Given the description of an element on the screen output the (x, y) to click on. 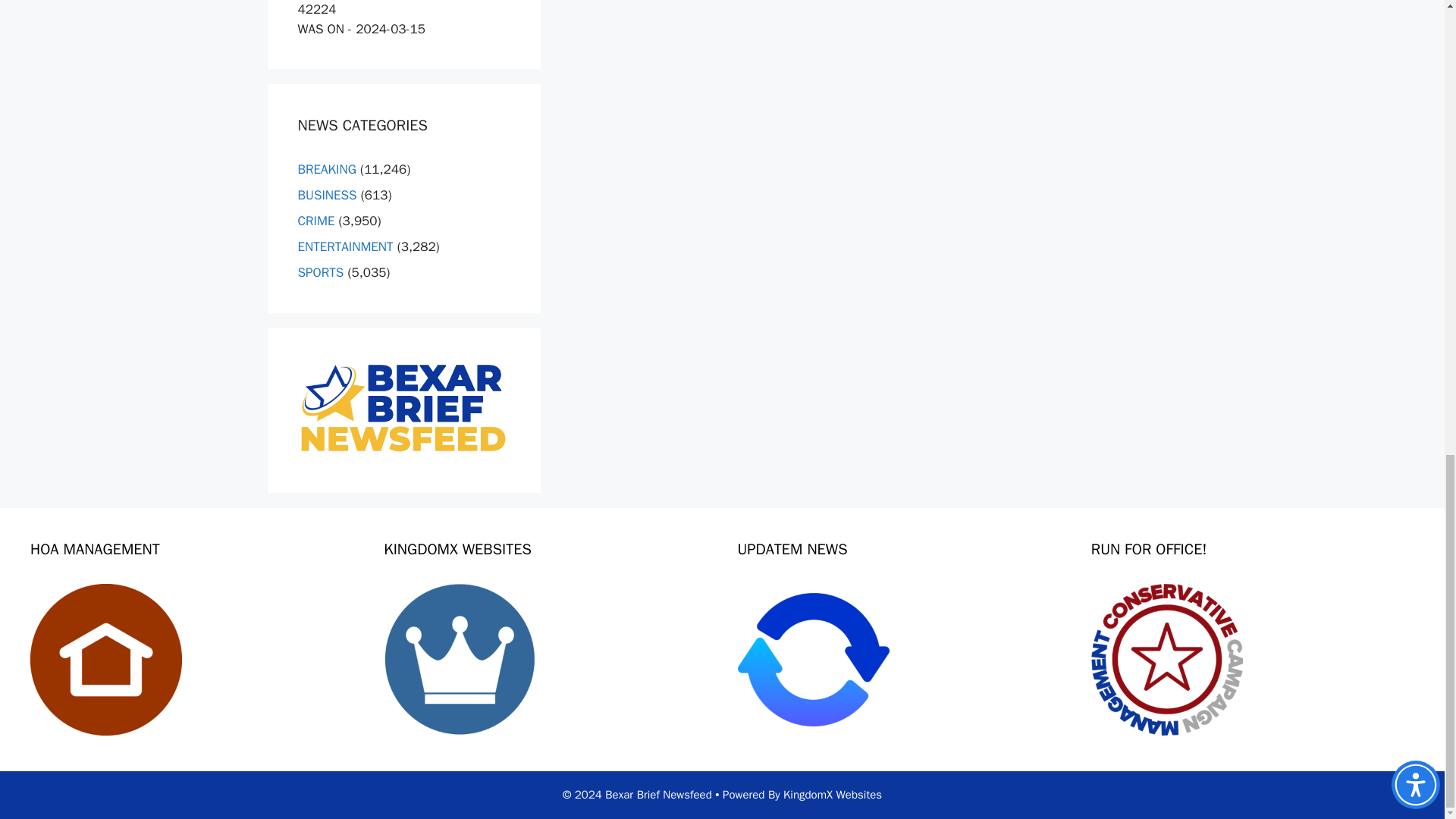
KingdomX Websites (832, 794)
BREAKING (326, 169)
CRIME (315, 220)
ENTERTAINMENT (345, 246)
BUSINESS (326, 195)
SPORTS (320, 272)
